Given the description of an element on the screen output the (x, y) to click on. 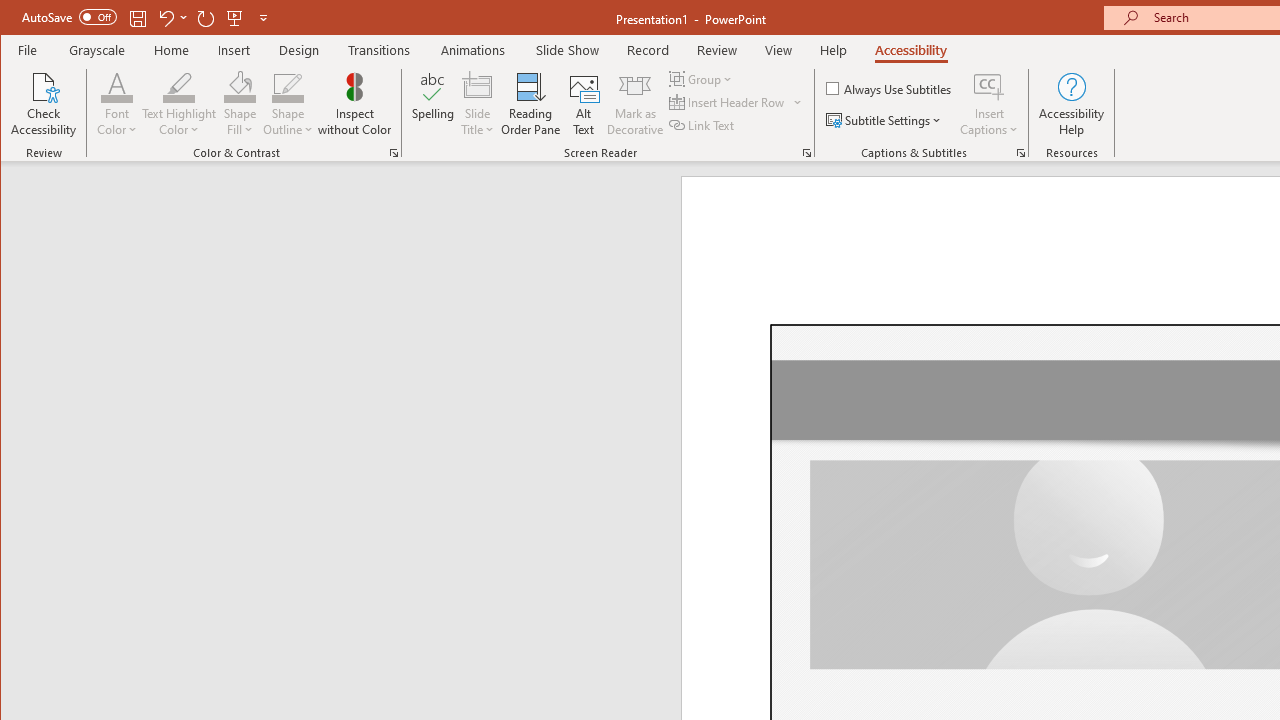
Screen Reader (806, 152)
Insert Captions (989, 86)
Shape Fill Orange, Accent 2 (239, 86)
Group (701, 78)
